Given the description of an element on the screen output the (x, y) to click on. 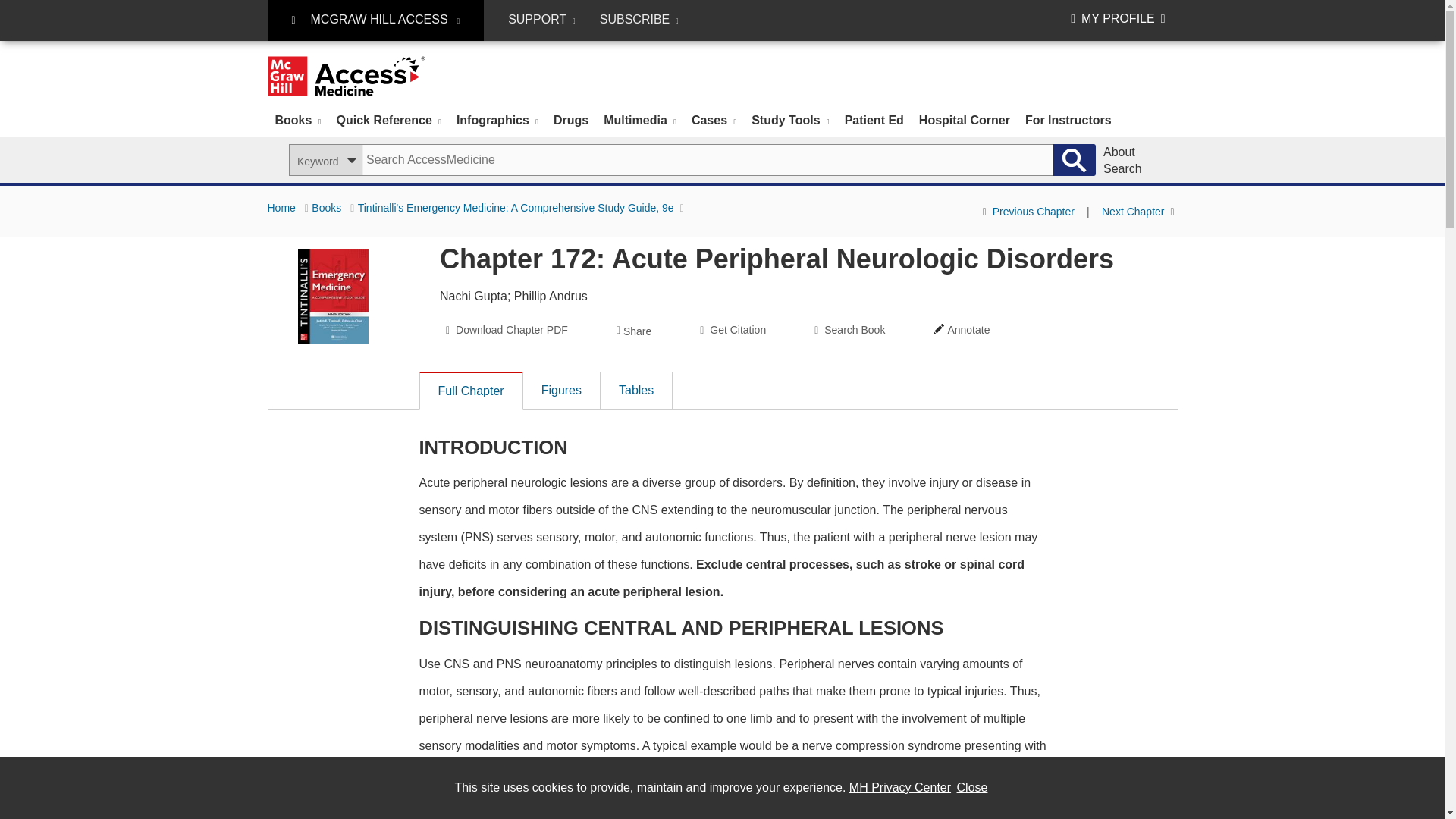
Search (1074, 160)
Search (1074, 160)
SUPPORT (541, 19)
MCGRAW HILL ACCESS (374, 20)
MY PROFILE (1117, 18)
SUBSCRIBE (638, 19)
